Given the description of an element on the screen output the (x, y) to click on. 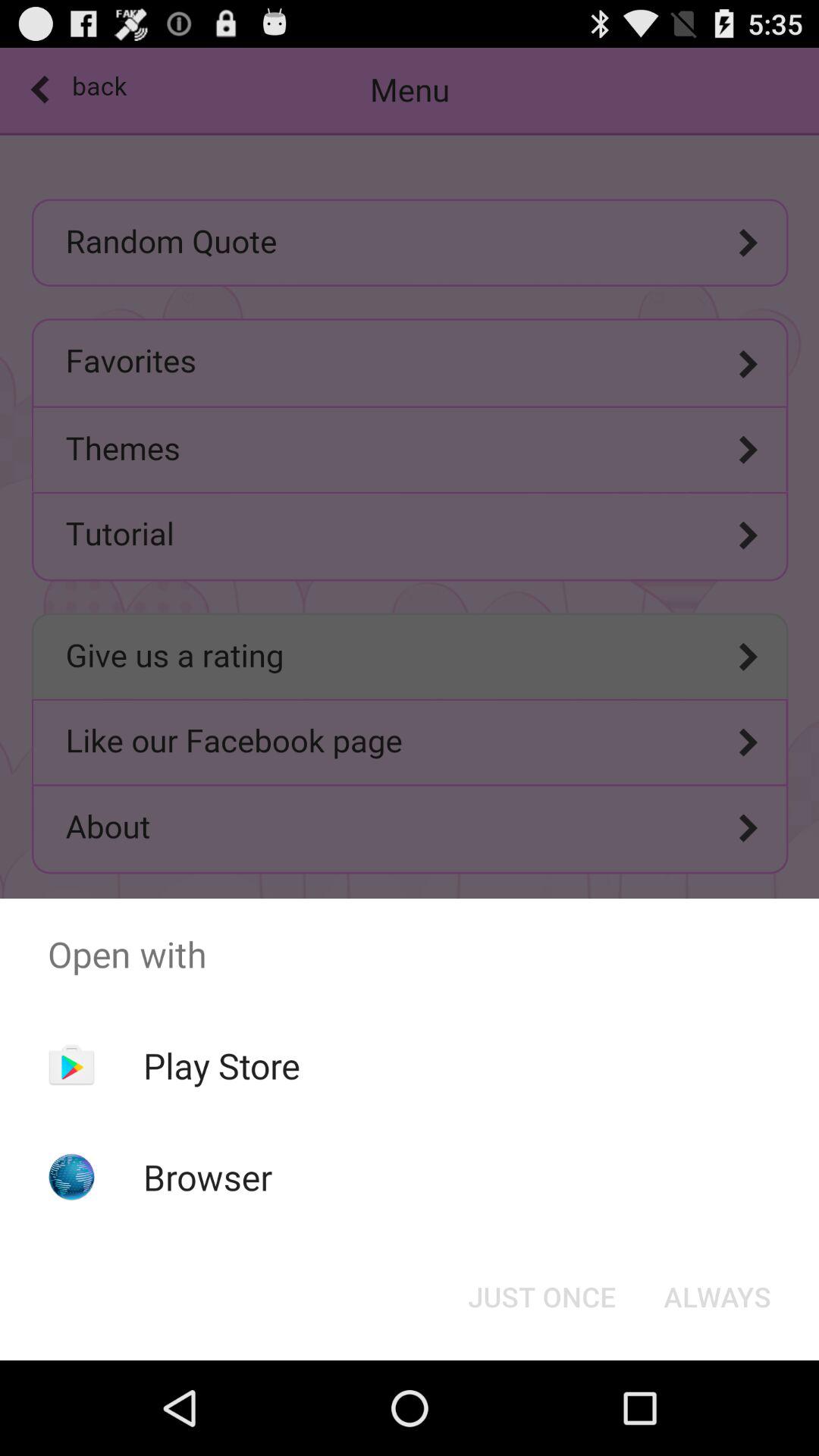
open the always at the bottom right corner (717, 1296)
